Given the description of an element on the screen output the (x, y) to click on. 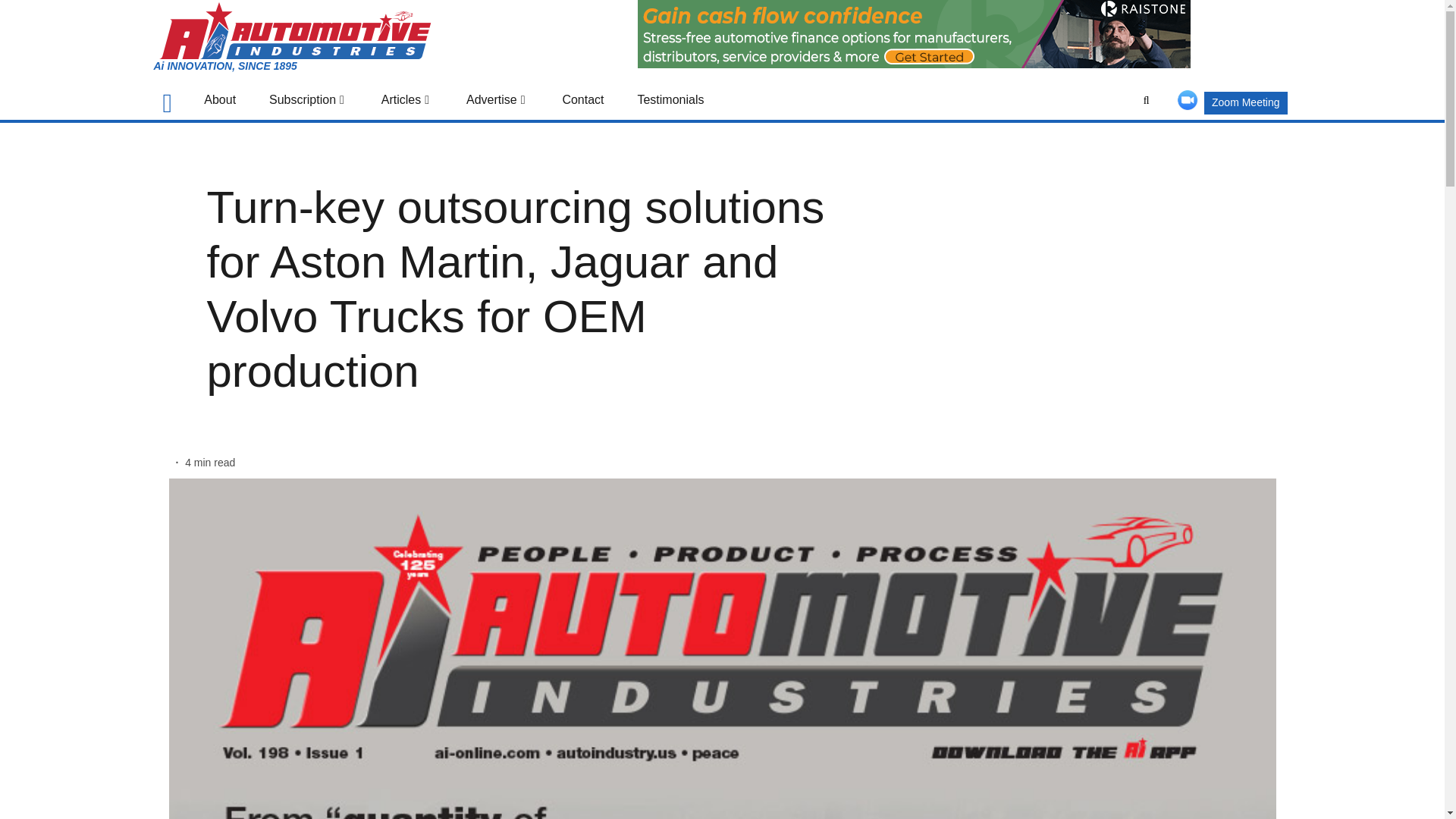
Subscription (308, 99)
About (219, 99)
Articles (406, 99)
